Given the description of an element on the screen output the (x, y) to click on. 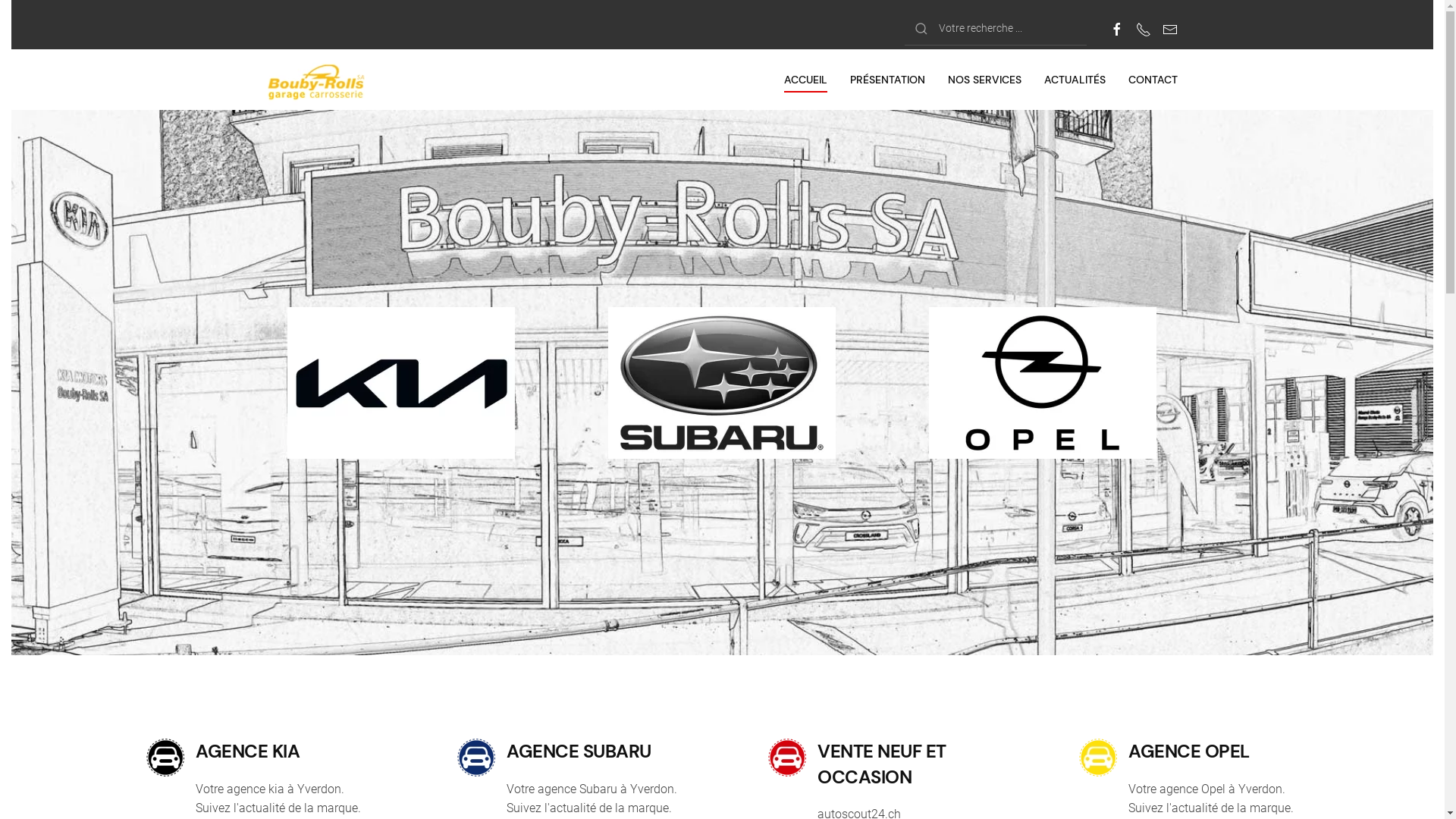
CONTACT Element type: text (1152, 79)
ACCUEIL Element type: text (804, 79)
NOS SERVICES Element type: text (983, 79)
